Given the description of an element on the screen output the (x, y) to click on. 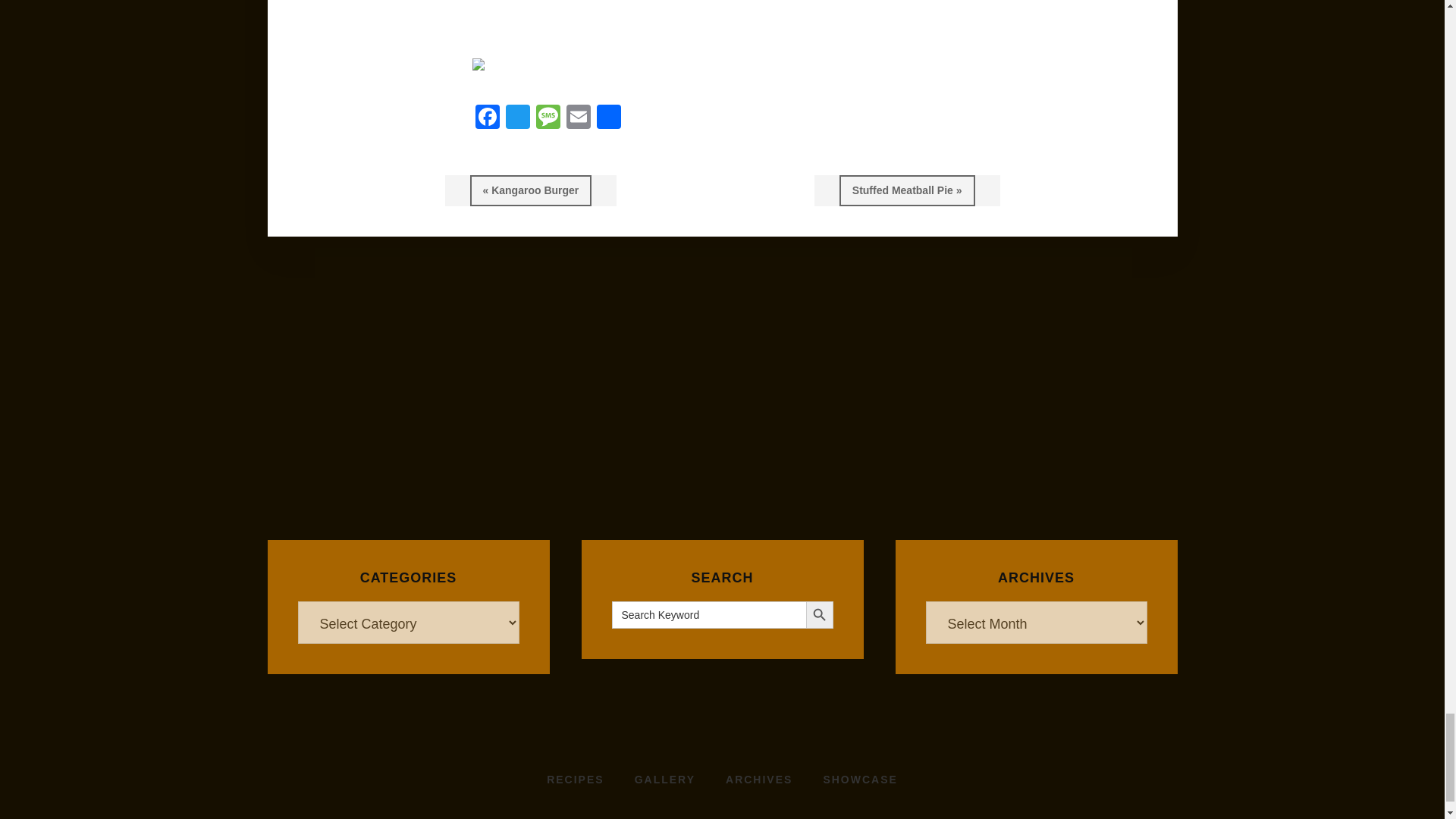
RECIPES (574, 779)
Message (547, 118)
SEARCH BUTTON (818, 614)
Message (547, 118)
Email (577, 118)
Facebook (486, 118)
Share (607, 118)
Twitter (517, 118)
Twitter (517, 118)
Facebook (486, 118)
Email (577, 118)
